Given the description of an element on the screen output the (x, y) to click on. 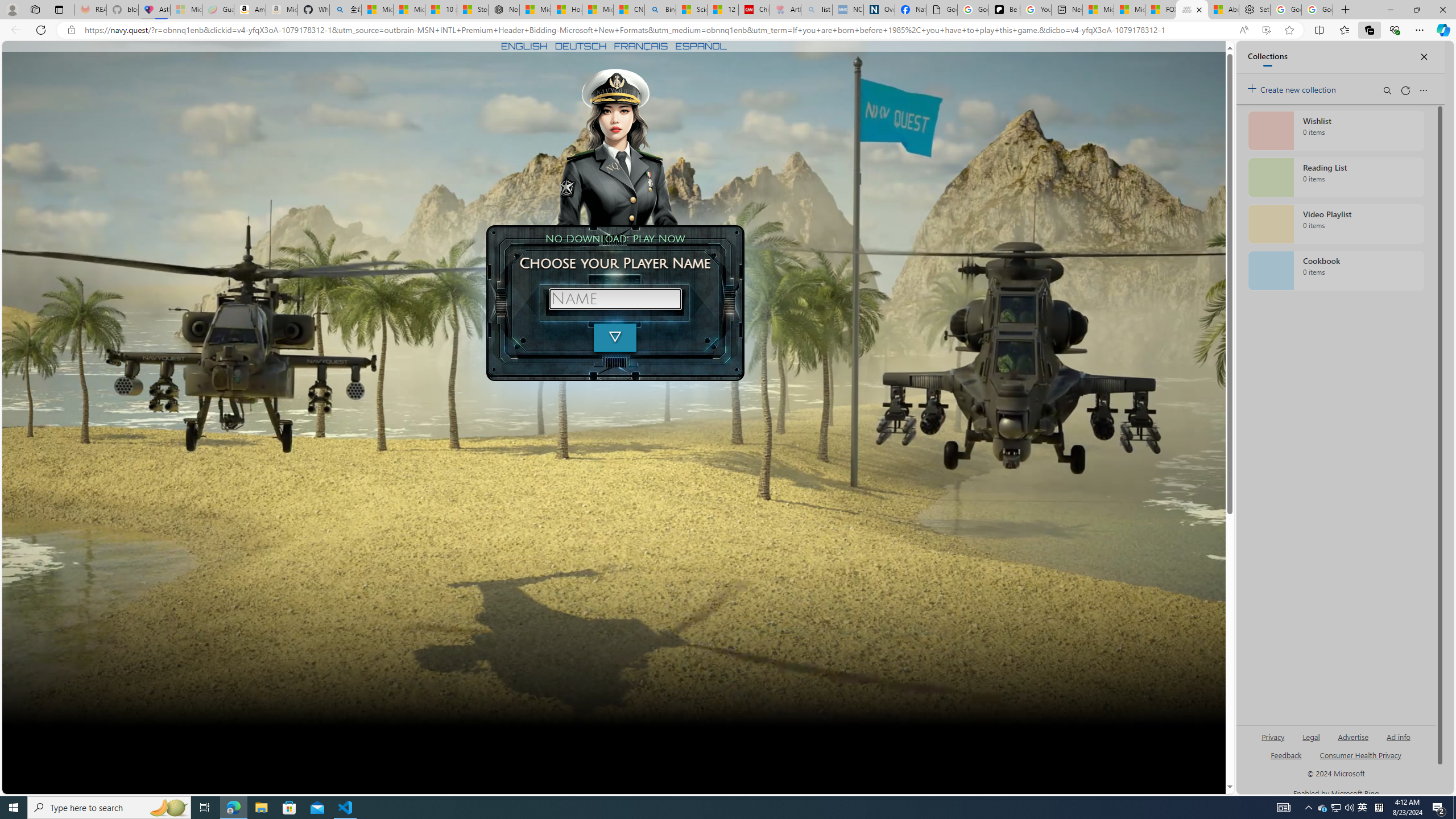
Read aloud this page (Ctrl+Shift+U) (1243, 29)
Tab actions menu (58, 9)
